Given the description of an element on the screen output the (x, y) to click on. 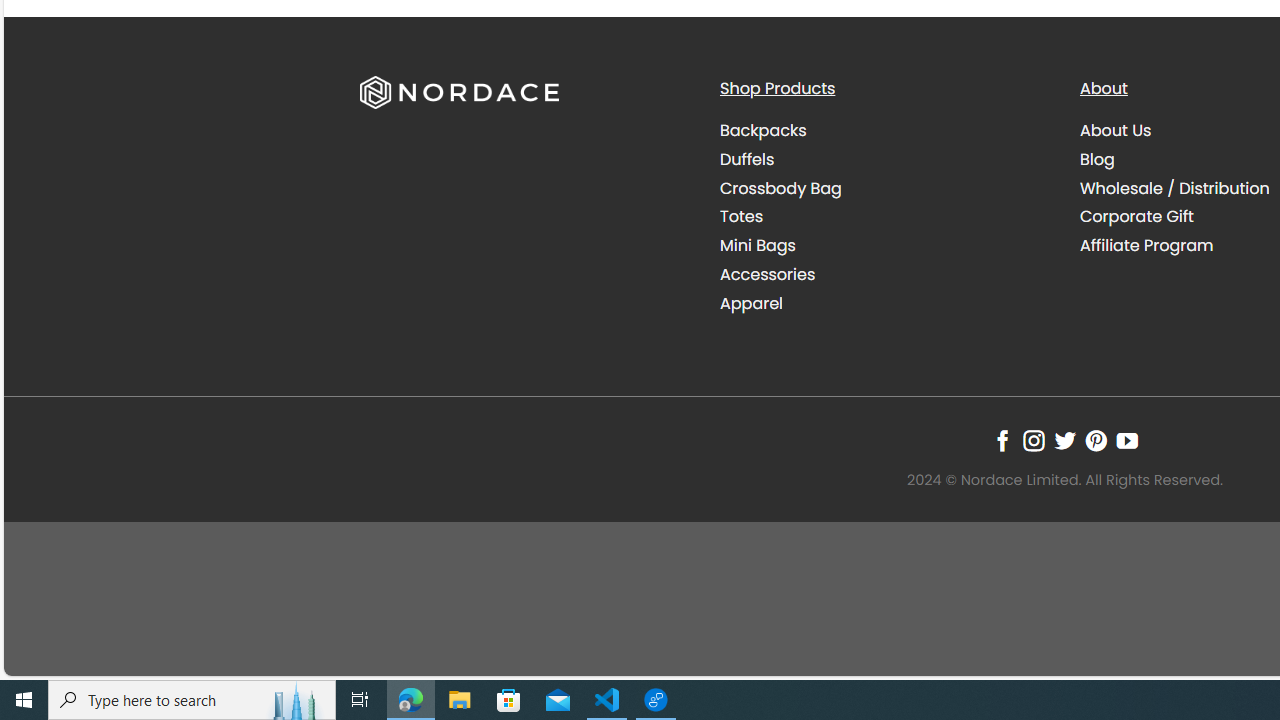
Corporate Gift (1137, 216)
Follow on YouTube (1126, 440)
Wholesale / Distribution (1174, 187)
About Us (1116, 130)
Backpacks (762, 130)
Apparel (884, 303)
Duffels (746, 158)
Mini Bags (884, 246)
Apparel (751, 302)
Affiliate Program (1146, 245)
Totes (740, 216)
Crossbody Bag (884, 188)
Accessories (767, 273)
Crossbody Bag (780, 187)
Totes (884, 216)
